Given the description of an element on the screen output the (x, y) to click on. 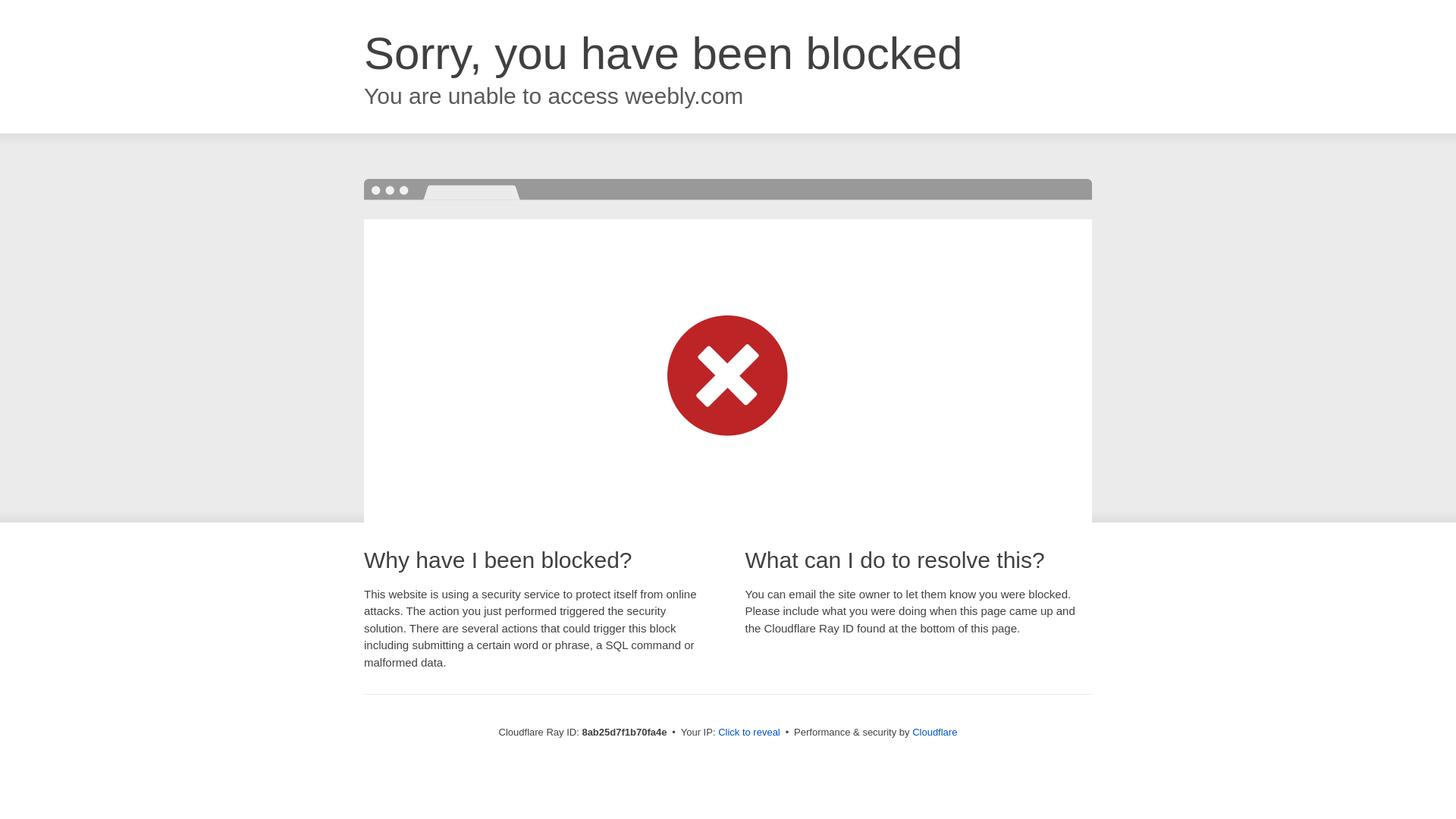
Cloudflare (934, 731)
Click to reveal (748, 732)
